Given the description of an element on the screen output the (x, y) to click on. 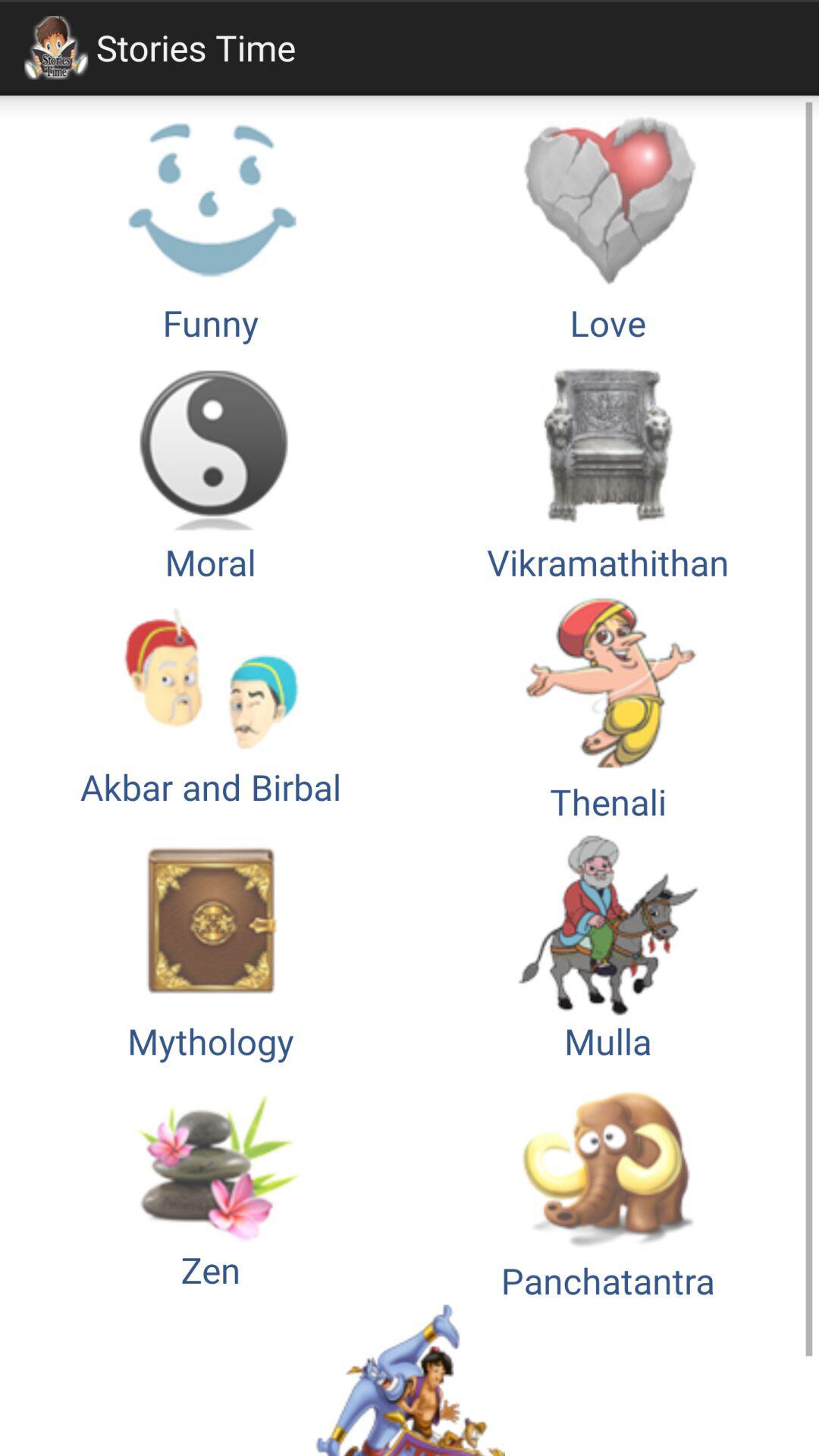
select the item above mythology button (608, 705)
